Given the description of an element on the screen output the (x, y) to click on. 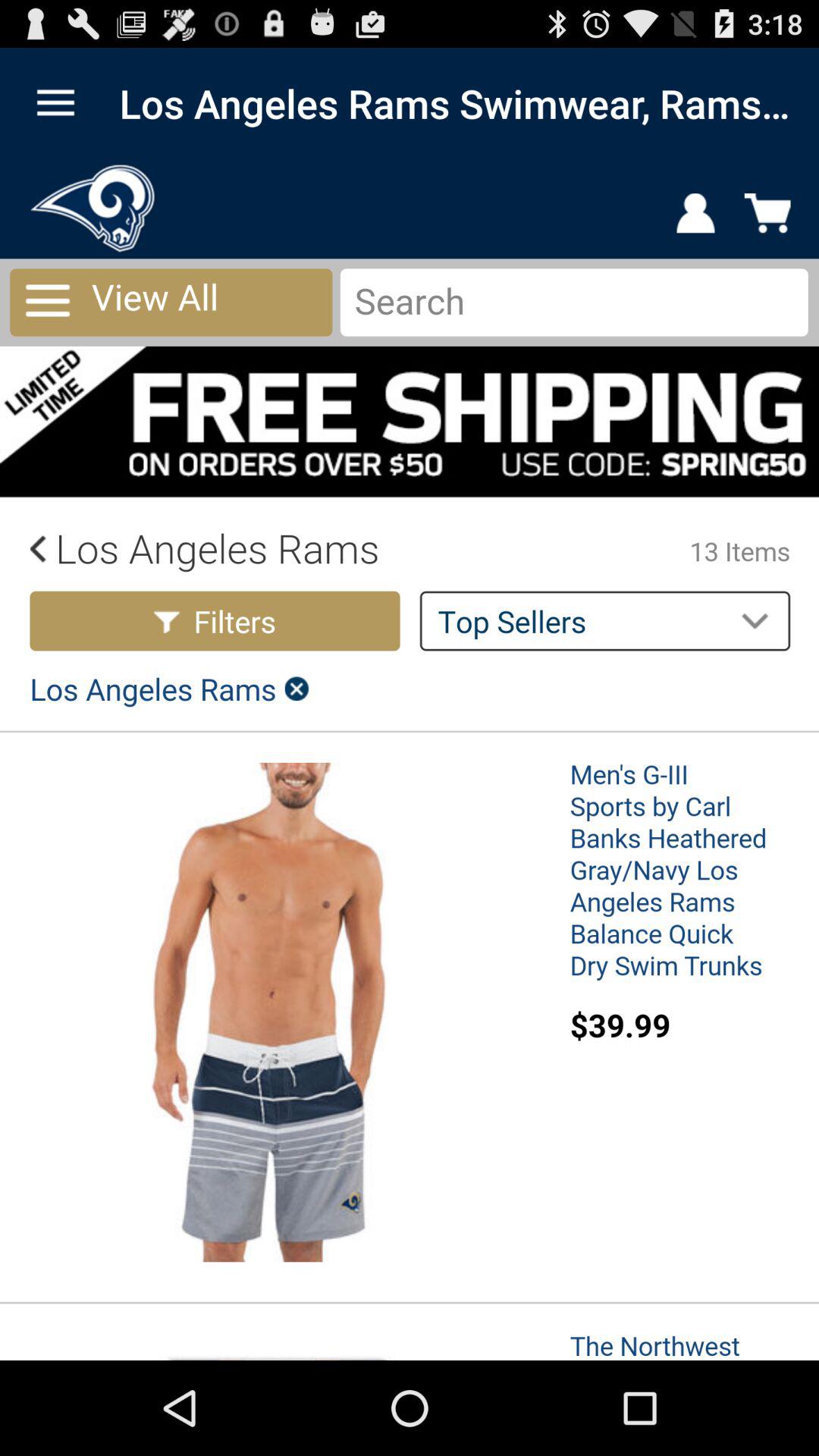
open main menu (55, 103)
